Given the description of an element on the screen output the (x, y) to click on. 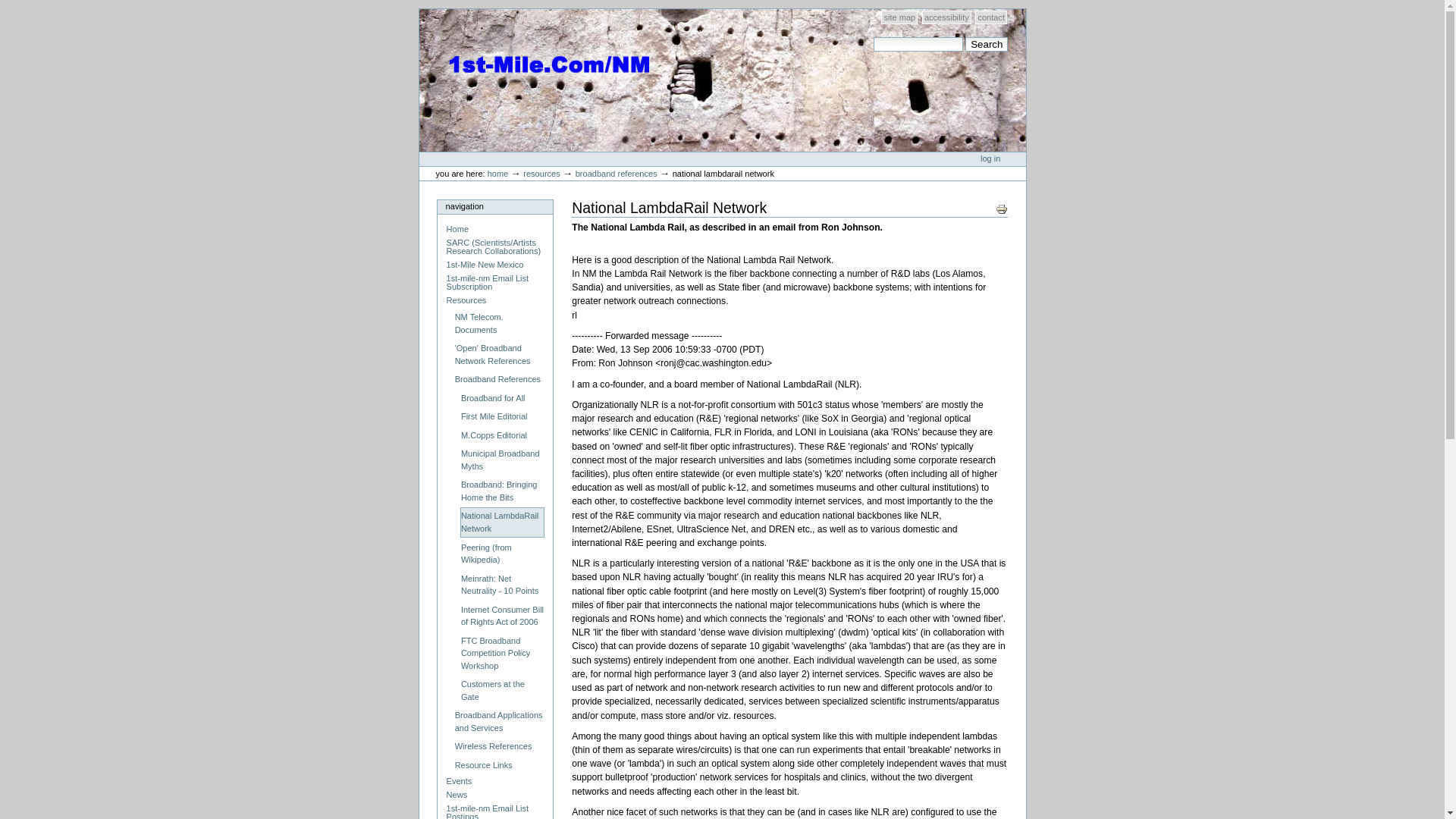
1st-mile-nm Email List Subscription Element type: text (494, 283)
contact Element type: text (991, 17)
Peering (from Wikipedia) Element type: text (502, 553)
First Mile Editorial Element type: text (502, 416)
Broadband for All Element type: text (502, 398)
Print this page Element type: hover (1001, 209)
FTC Broadband Competition Policy Workshop Element type: text (502, 652)
log in Element type: text (990, 158)
Municipal Broadband Myths Element type: text (502, 460)
M.Copps Editorial Element type: text (502, 435)
'Open' Broadband Network References Element type: text (499, 354)
broadband references Element type: text (616, 173)
Broadband References Element type: text (499, 379)
SARC (Scientists/Artists Research Collaborations) Element type: text (494, 247)
Internet Consumer Bill of Rights Act of 2006 Element type: text (502, 615)
Home Element type: text (494, 229)
Broadband: Bringing Home the Bits Element type: text (502, 491)
resources Element type: text (541, 173)
Events Element type: text (494, 781)
Search Element type: text (986, 44)
Resources Element type: text (494, 300)
Skip to content. Element type: text (418, 9)
News Element type: text (494, 795)
navigation Element type: text (494, 206)
Meinrath: Net Neutrality - 10 Points Element type: text (502, 584)
Search Site Element type: hover (918, 44)
Broadband Applications and Services Element type: text (499, 721)
site map Element type: text (899, 17)
Customers at the Gate Element type: text (502, 690)
Resource Links Element type: text (499, 765)
Wireless References Element type: text (499, 746)
accessibility Element type: text (946, 17)
NM Telecom. Documents Element type: text (499, 323)
National LambdaRail Network Element type: text (502, 522)
1st-Mile Element type: text (534, 40)
1st-Mile New Mexico Element type: text (494, 265)
home Element type: text (497, 173)
